Given the description of an element on the screen output the (x, y) to click on. 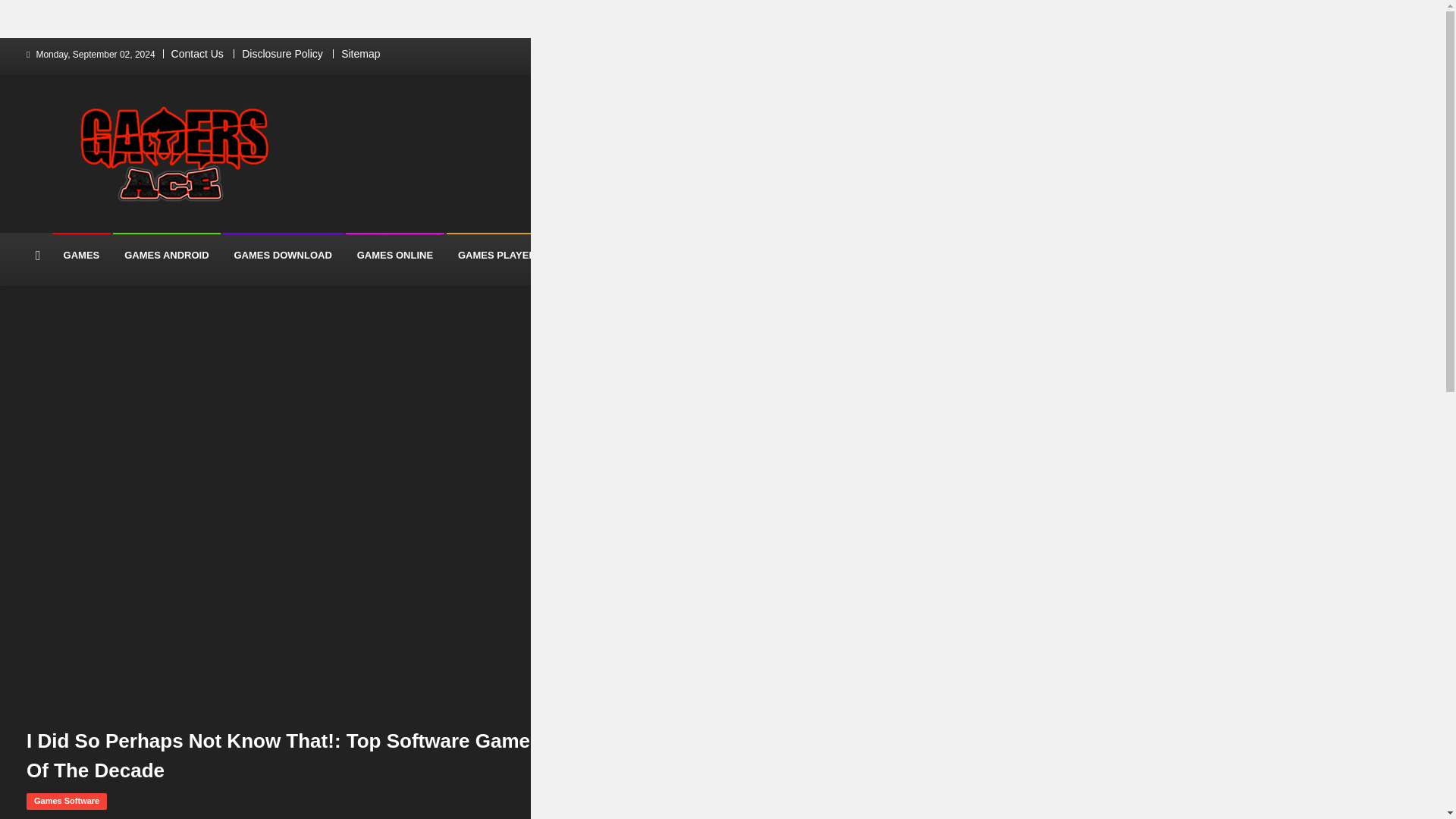
Search (881, 318)
Games Software (66, 801)
Contact Us (197, 53)
Sitemap (360, 53)
GAMES DOWNLOAD (282, 255)
Gamers Ace (56, 228)
GAMES PLAYER (496, 255)
Disclosure Policy (282, 53)
GAMES (82, 255)
